Given the description of an element on the screen output the (x, y) to click on. 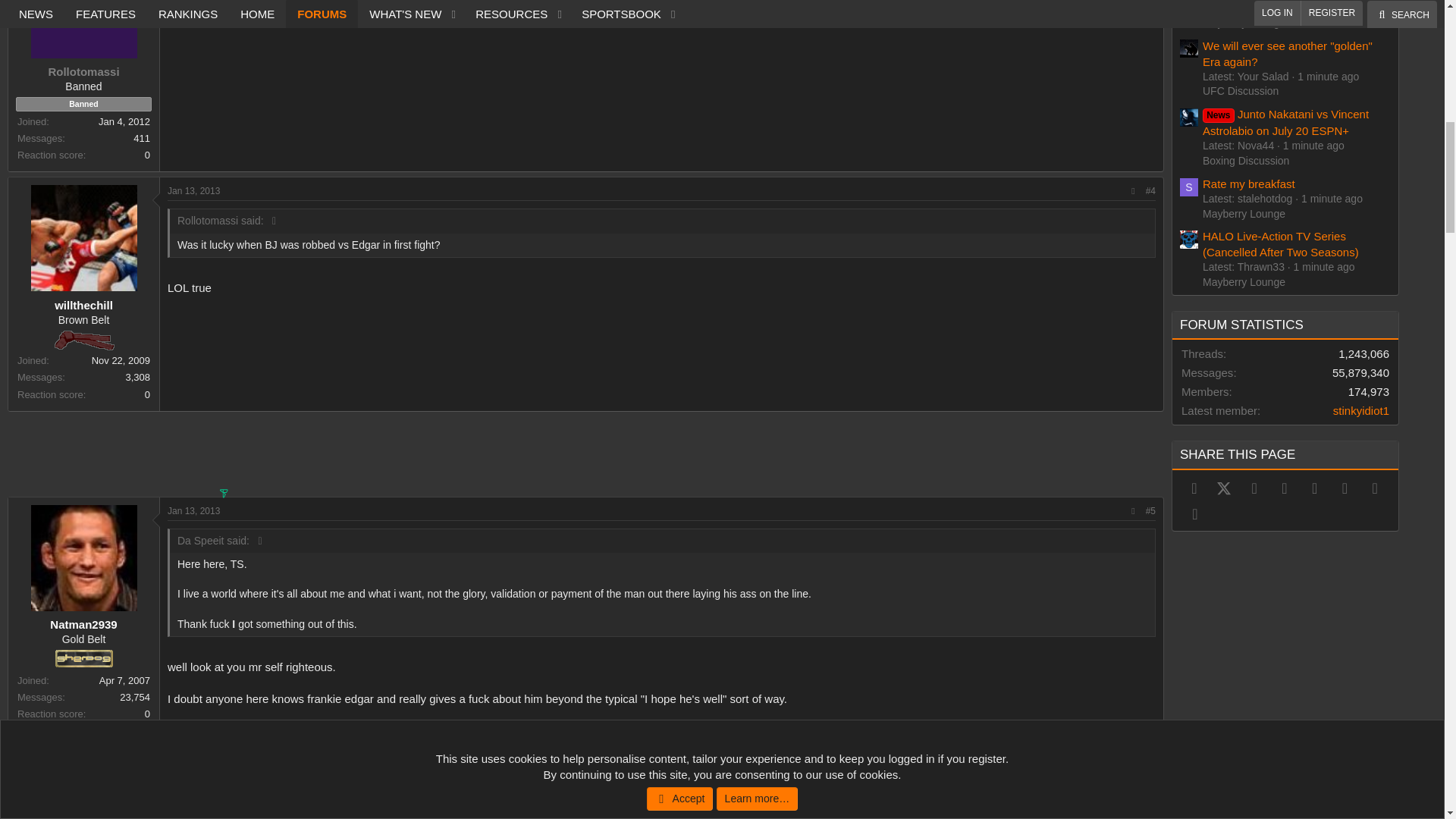
Jan 13, 2013 at 10:09 PM (193, 800)
Jan 13, 2013 at 10:05 PM (193, 190)
3rd party ad content (585, 450)
Jan 13, 2013 at 10:07 PM (193, 511)
